Given the description of an element on the screen output the (x, y) to click on. 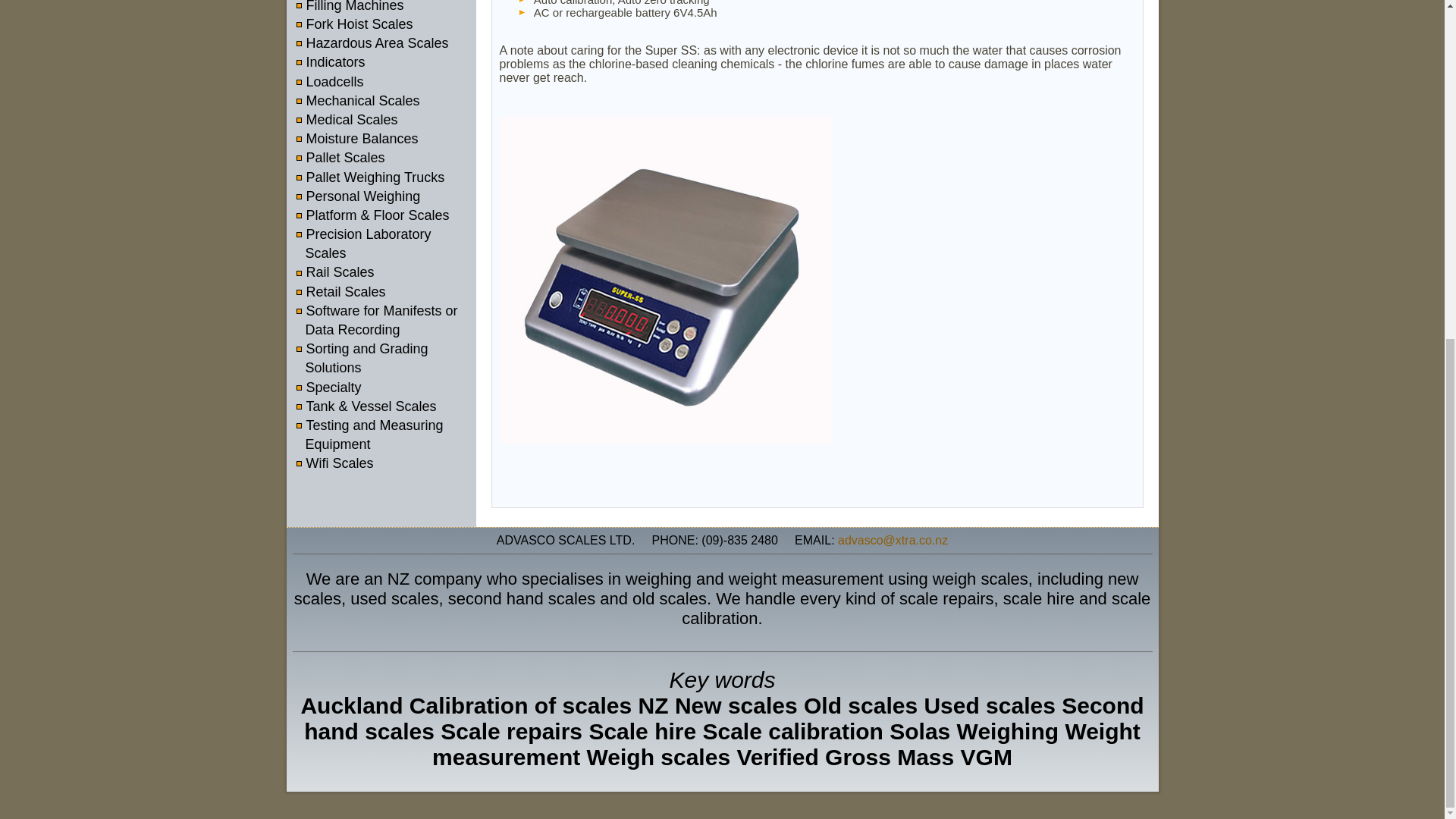
Mechanical Scales (364, 101)
Rail Scales (341, 273)
Wifi Scales (341, 464)
Medical Scales (353, 120)
Moisture Balances (363, 139)
Sorting and Grading Solutions (366, 358)
Precision Laboratory Scales (367, 245)
Filling Machines (356, 6)
Hazardous Area Scales (378, 43)
Fork Hoist Scales (360, 25)
Pallet Weighing Trucks (376, 178)
Loadcells (335, 82)
Pallet Scales (346, 158)
Retail Scales (346, 292)
Software for Manifests or Data Recording (380, 321)
